Given the description of an element on the screen output the (x, y) to click on. 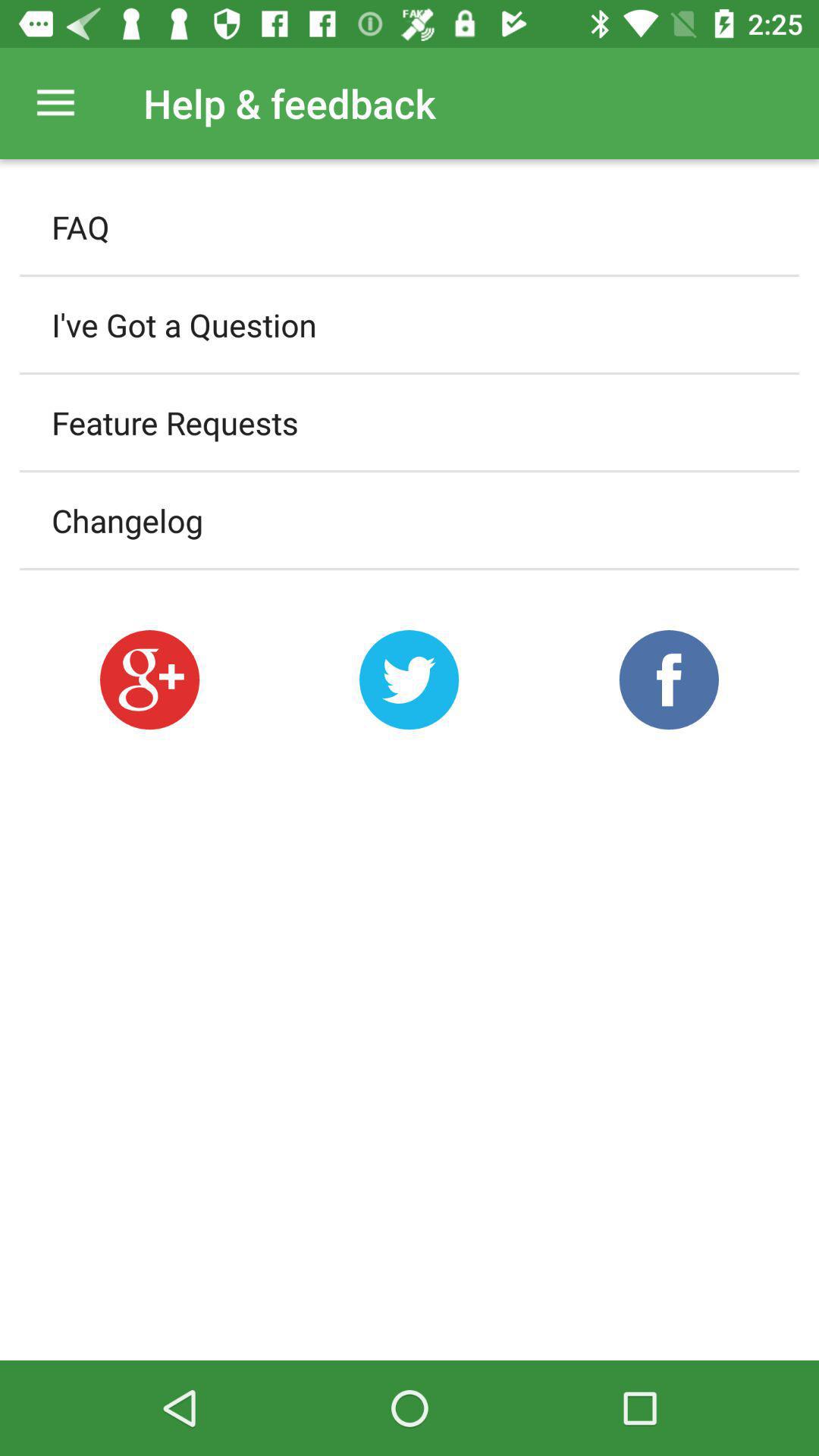
open item above feature requests (409, 324)
